Given the description of an element on the screen output the (x, y) to click on. 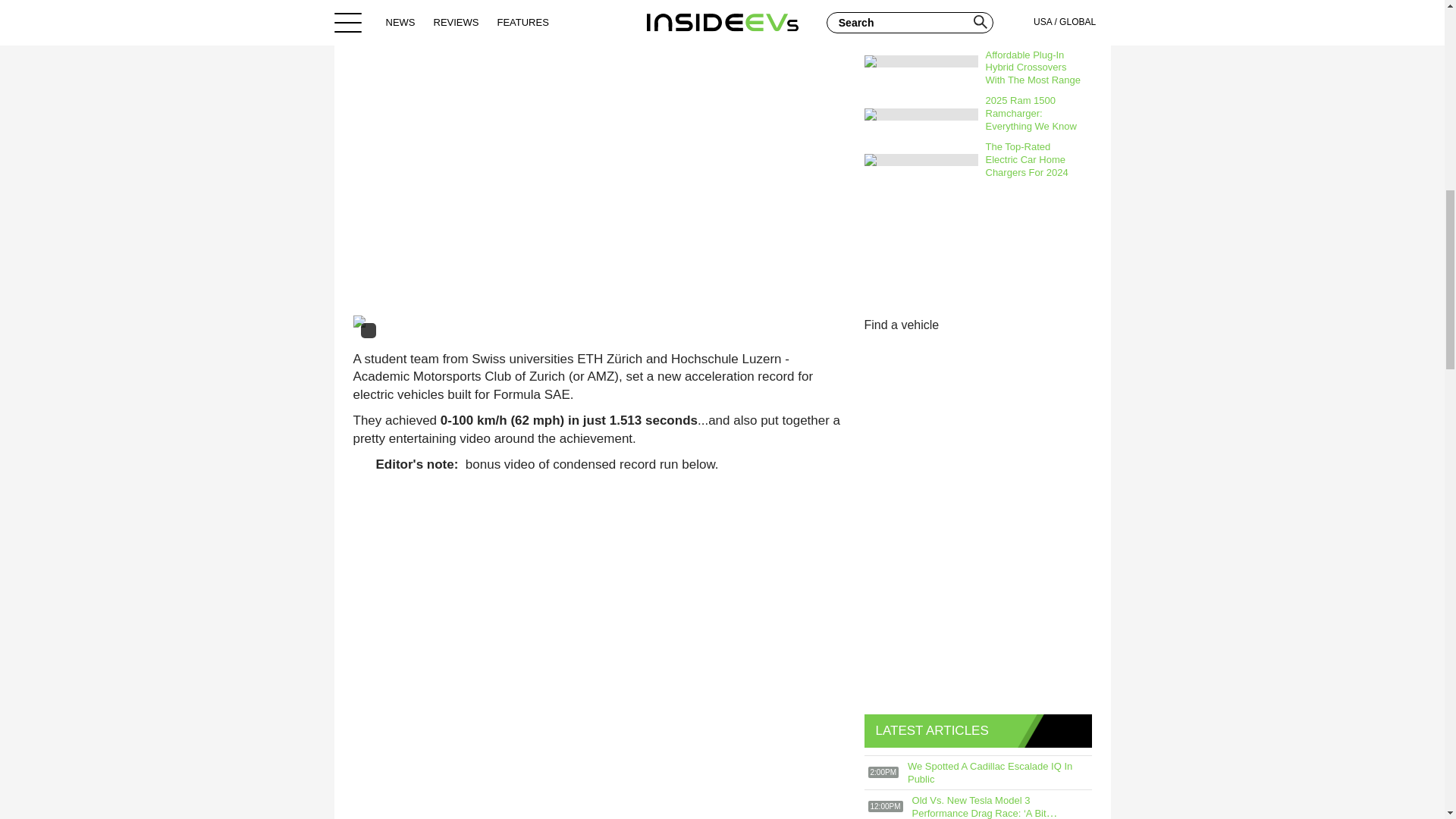
2025 Ram 1500 Ramcharger: Everything We Know (1035, 114)
The Top-Rated Electric Car Home Chargers For 2024 (1035, 159)
